Given the description of an element on the screen output the (x, y) to click on. 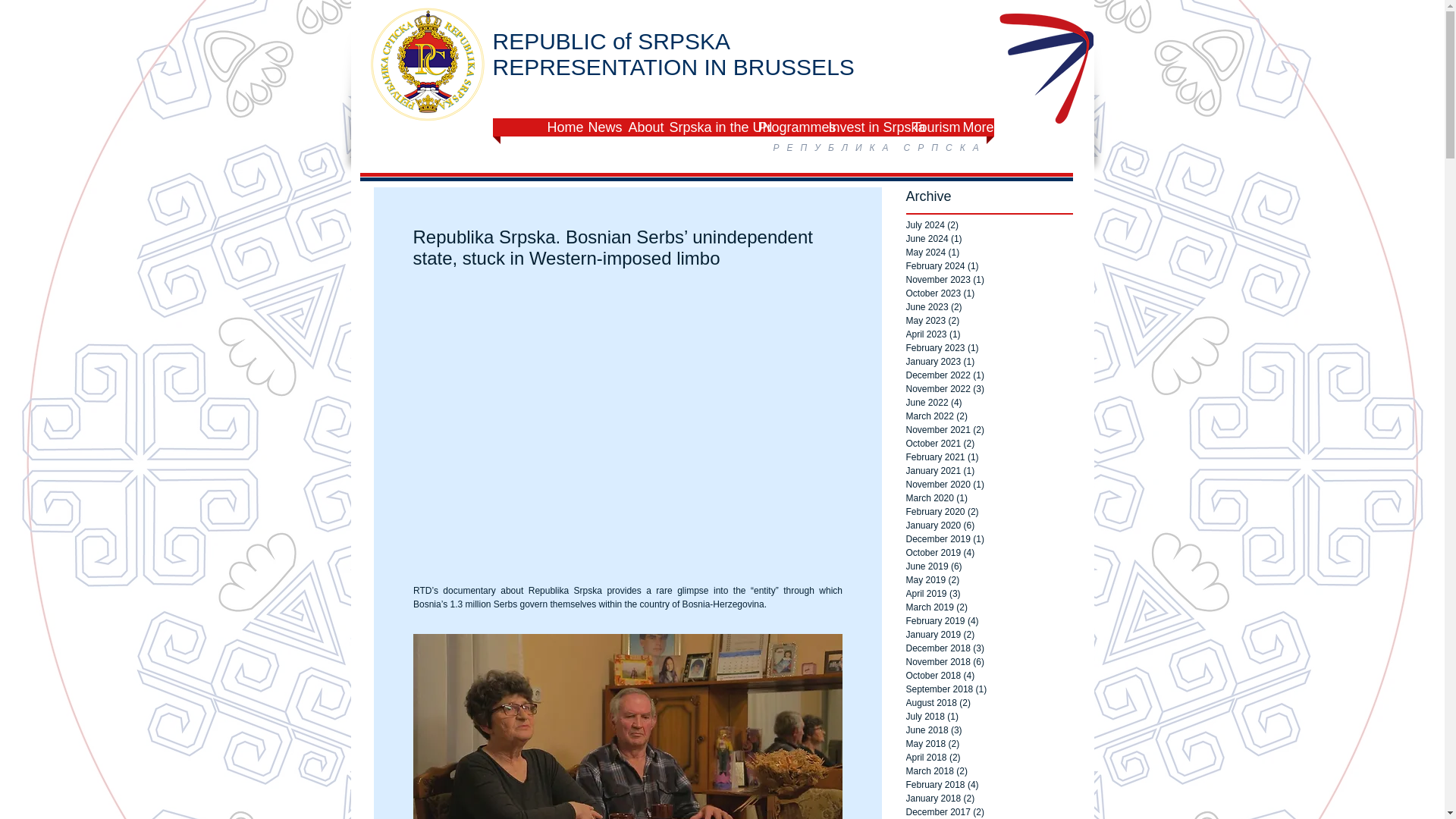
Invest in Srpska (862, 126)
Srpska in the UN (705, 126)
Tourism (930, 126)
News (600, 126)
Home (560, 126)
Programmes (786, 126)
About (640, 126)
